Given the description of an element on the screen output the (x, y) to click on. 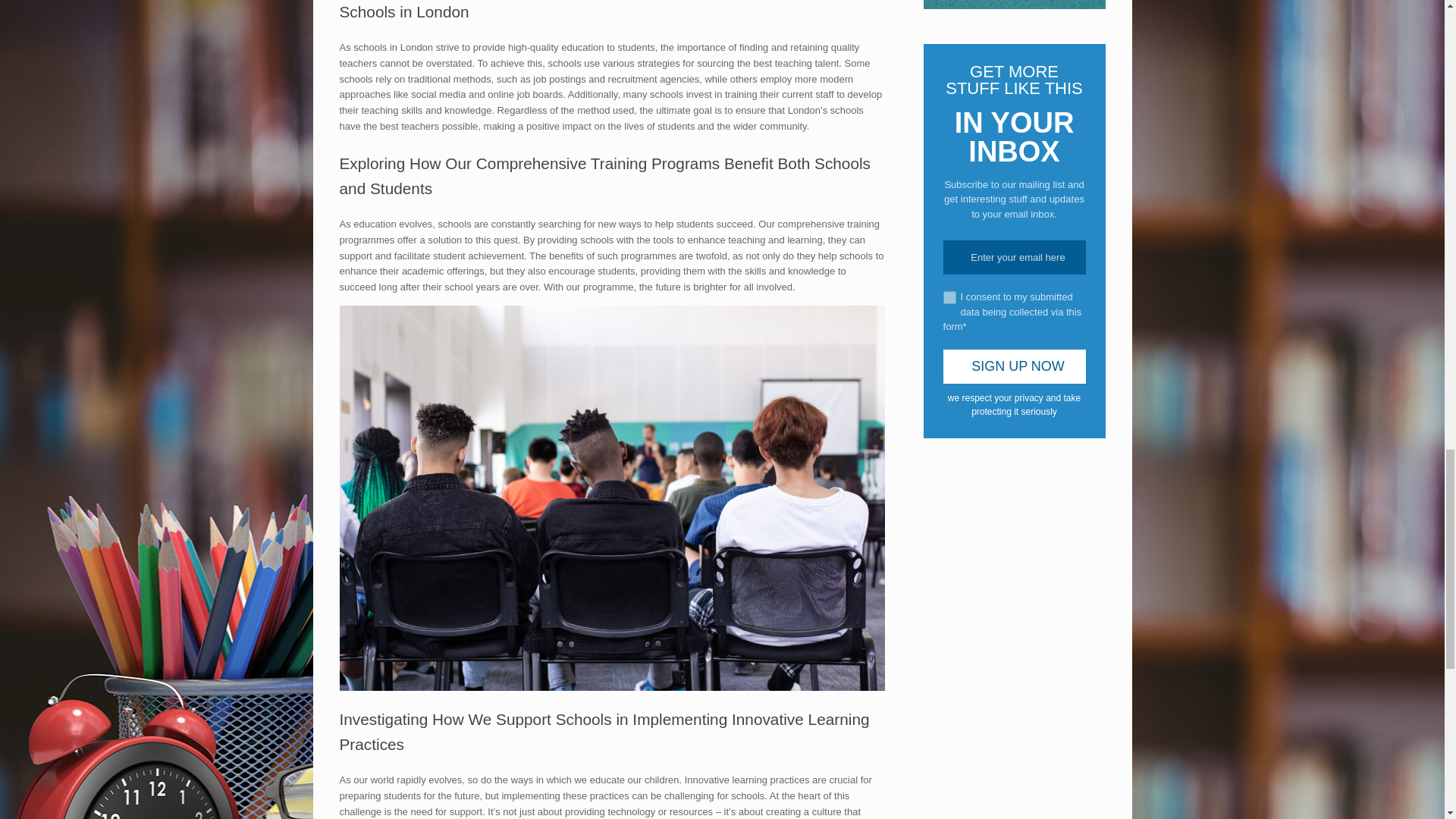
on (949, 297)
Sign Up Now (1014, 366)
